Given the description of an element on the screen output the (x, y) to click on. 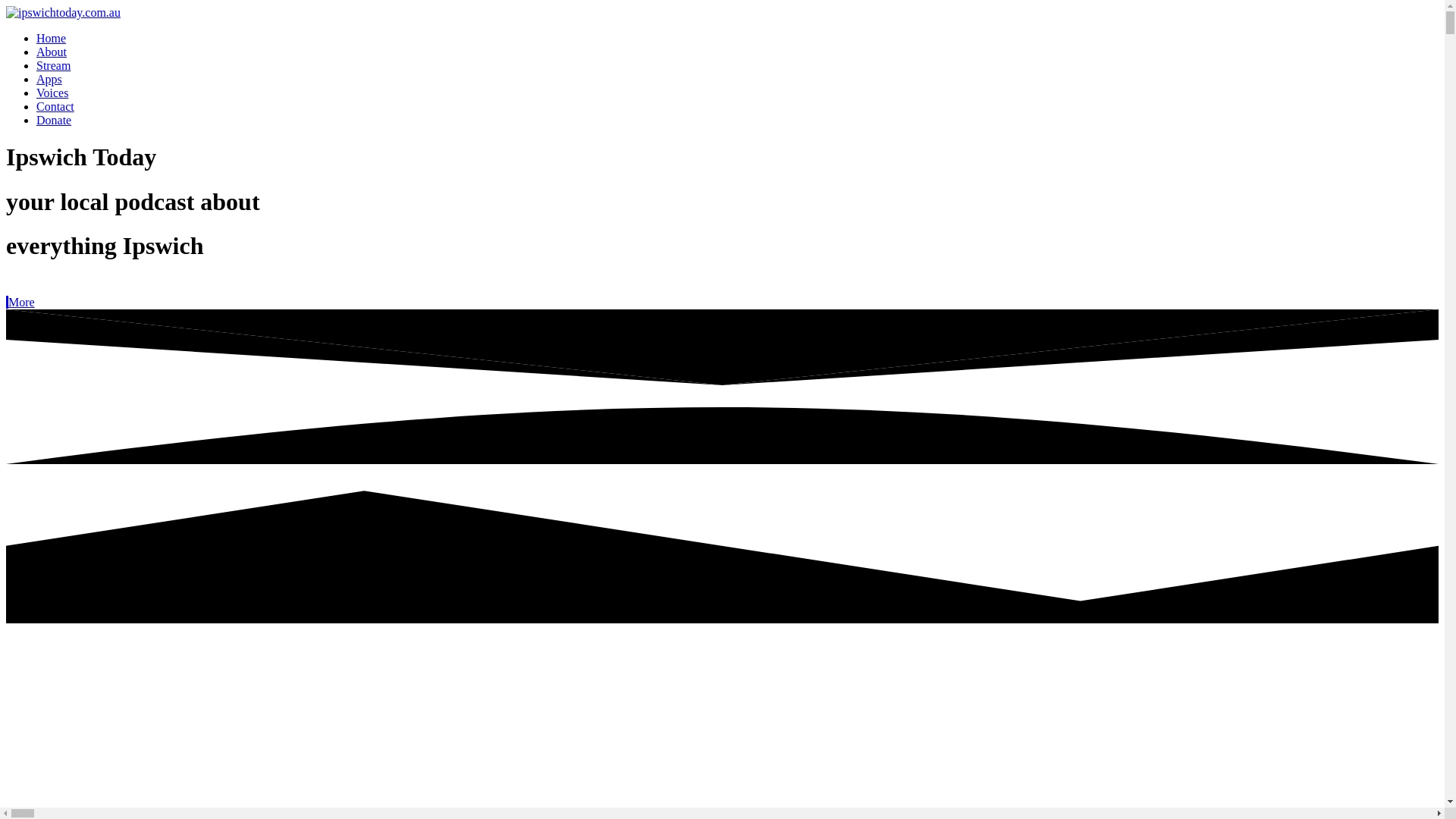
Apps Element type: text (49, 78)
Home Element type: text (50, 37)
Stream Element type: text (53, 65)
About Element type: text (51, 51)
More Element type: text (20, 301)
Donate Element type: text (53, 119)
Voices Element type: text (52, 92)
Contact Element type: text (55, 106)
